Given the description of an element on the screen output the (x, y) to click on. 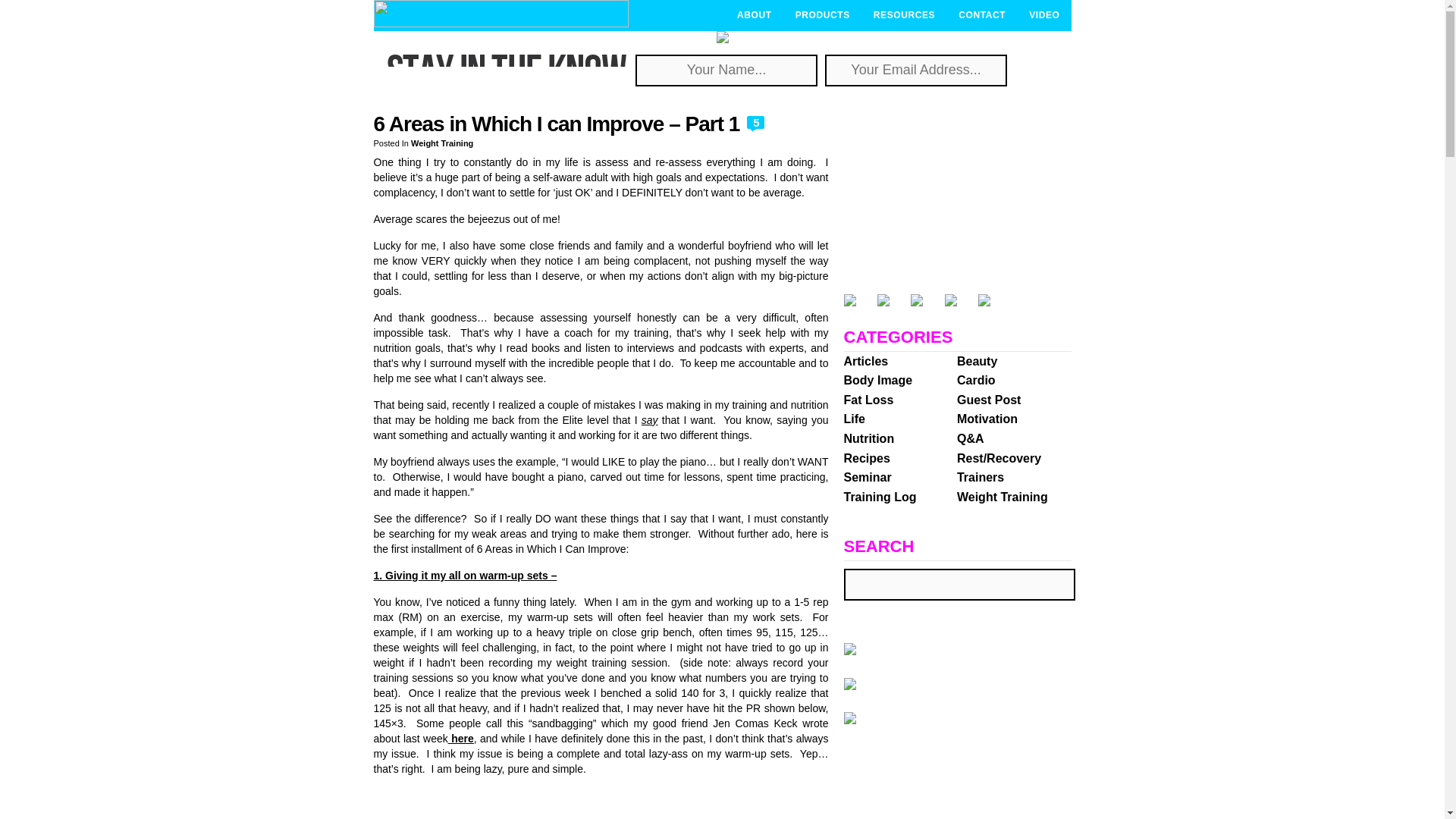
PRODUCTS (822, 15)
CONTACT (981, 15)
Weight Training (441, 143)
5 (755, 123)
Molly Galbraith (499, 23)
ABOUT (754, 15)
Beauty (976, 360)
Articles (865, 360)
RESOURCES (903, 15)
VIDEO (1043, 15)
here (461, 738)
Body Image (877, 379)
